Given the description of an element on the screen output the (x, y) to click on. 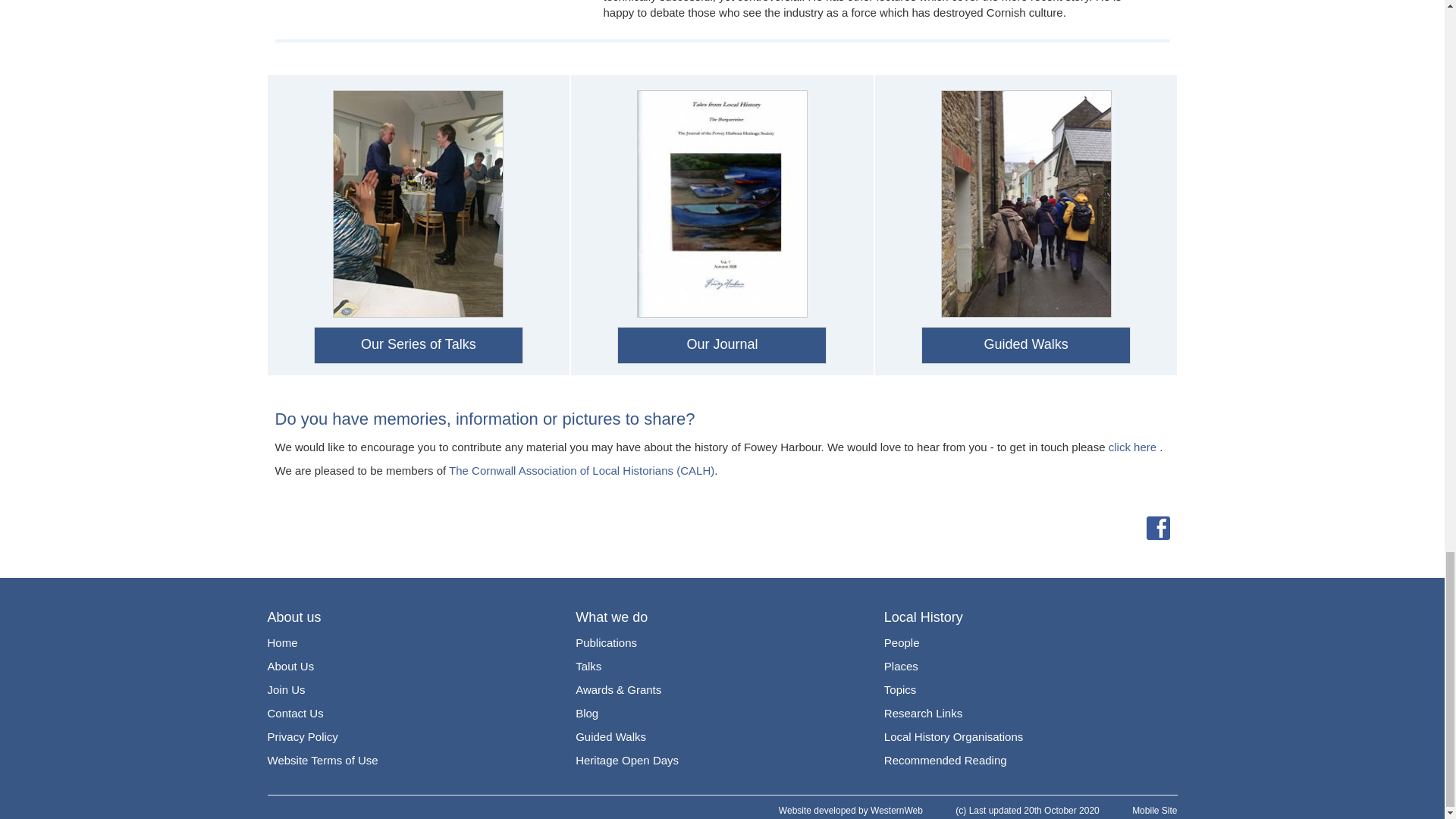
Our Series of Talks (418, 345)
Guided Walks (1025, 345)
Guided Walks (610, 736)
Heritage Open Days (626, 760)
People (901, 642)
Research Links (922, 712)
Join Us (285, 689)
Places (900, 666)
Website Terms of Use (321, 760)
Local History Organisations (953, 736)
